Given the description of an element on the screen output the (x, y) to click on. 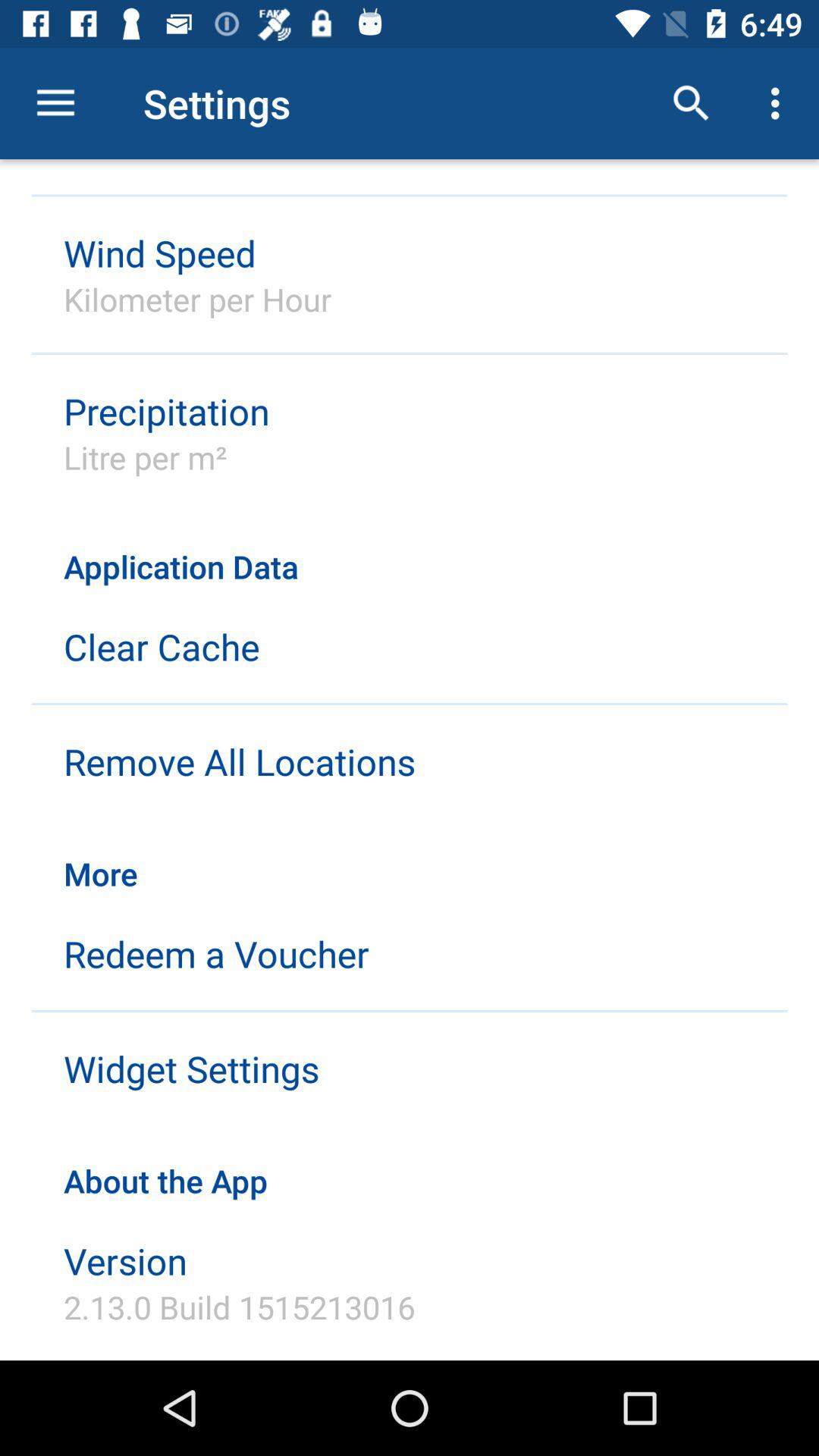
turn off icon below the version icon (239, 1306)
